Given the description of an element on the screen output the (x, y) to click on. 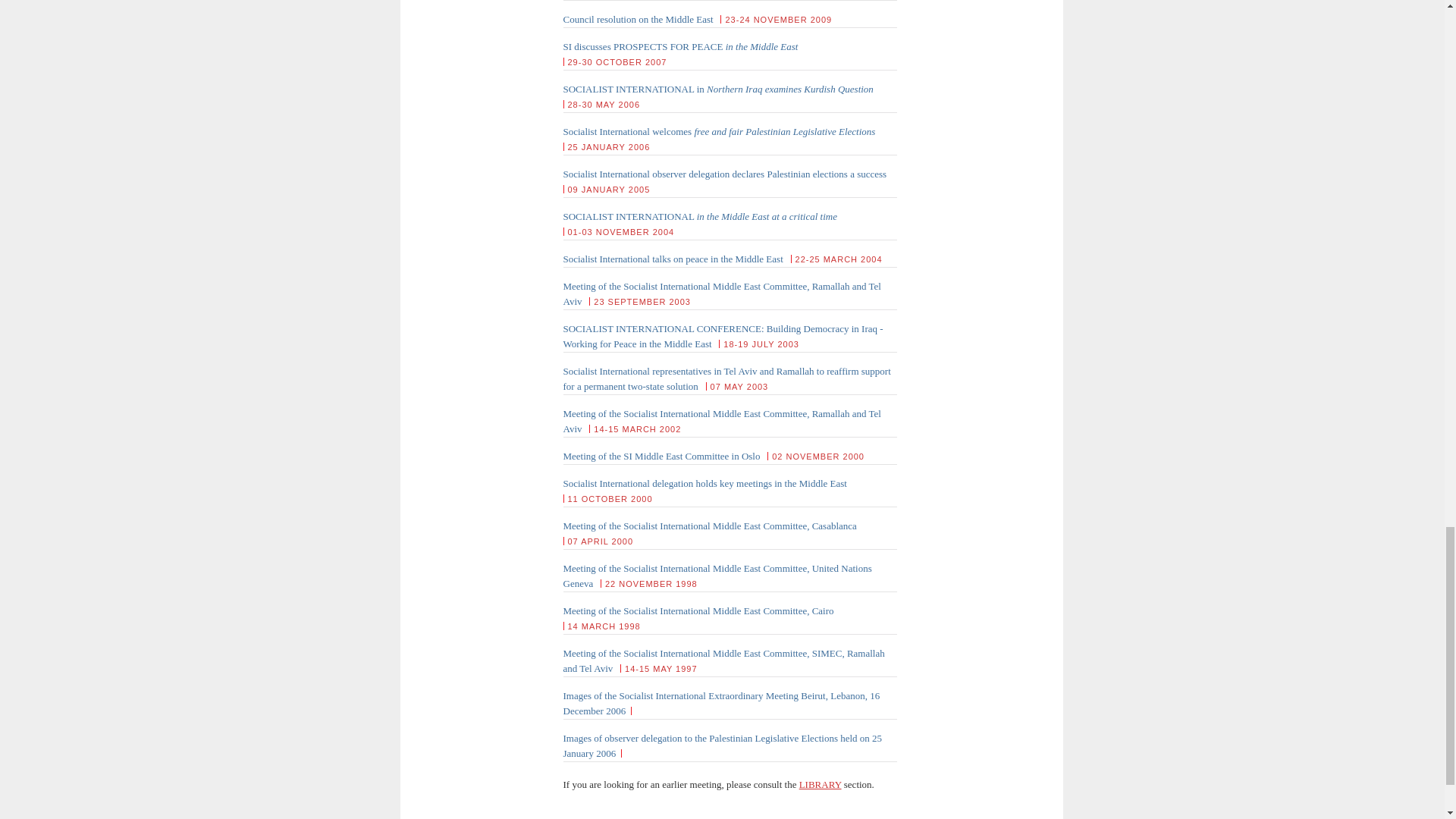
SI discusses PROSPECTS FOR PEACE in the Middle East (679, 46)
Socialist International talks on peace in the Middle East (672, 258)
Council resolution on the Middle East (637, 19)
